Given the description of an element on the screen output the (x, y) to click on. 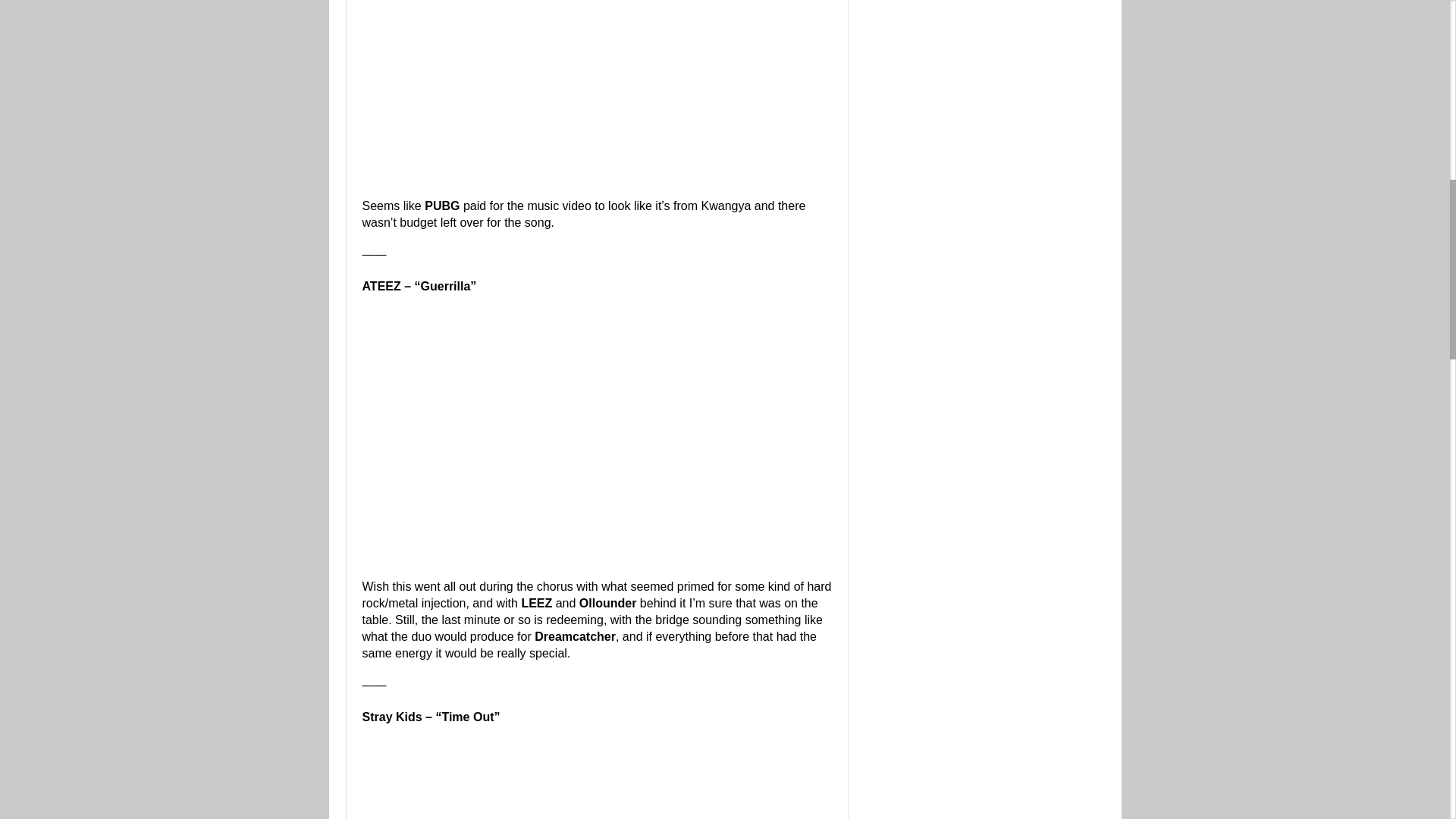
Scroll To Top (1427, 60)
